Given the description of an element on the screen output the (x, y) to click on. 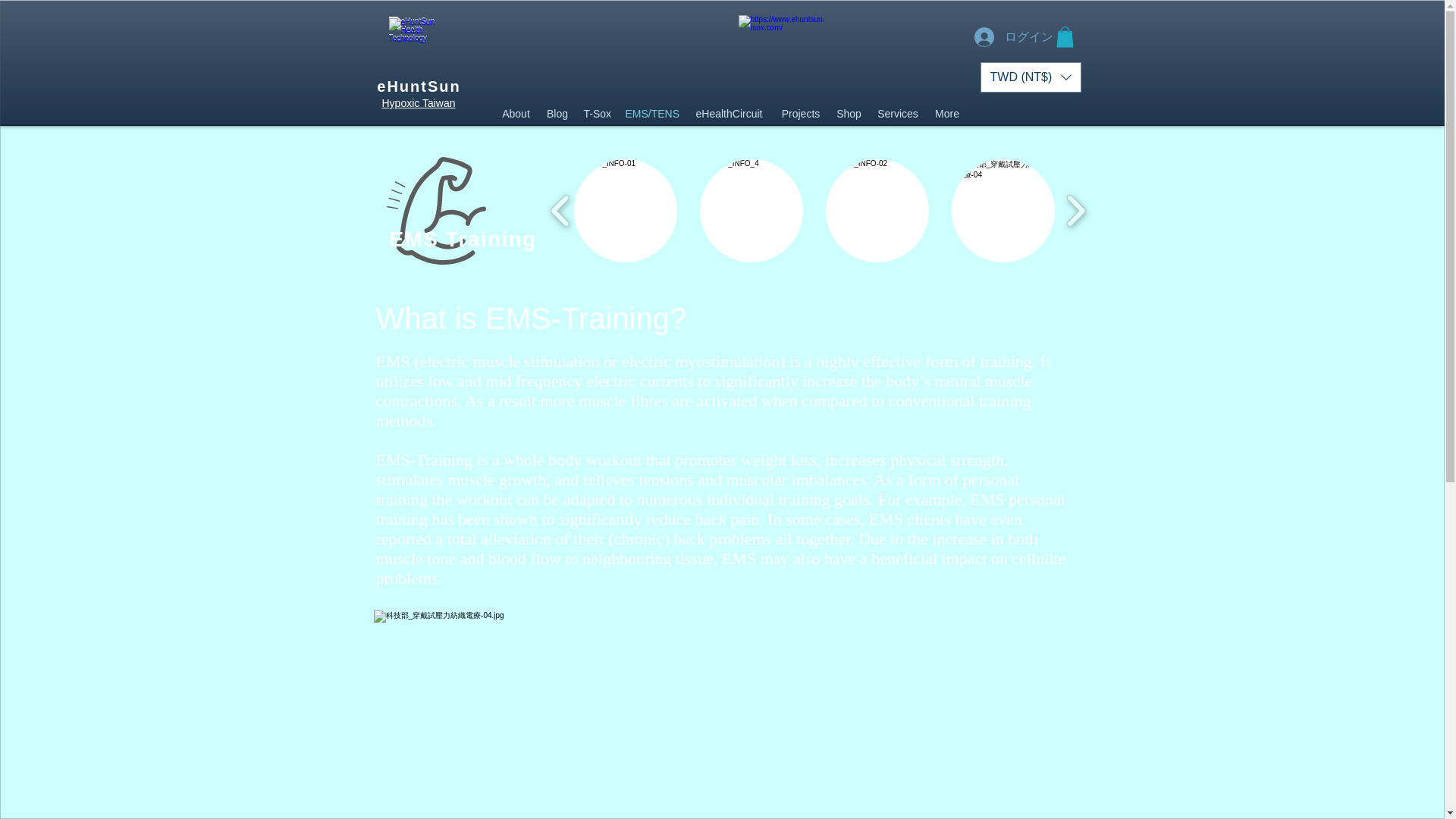
T-Sox (596, 114)
Projects (800, 114)
Blog (556, 114)
eHuntSun (418, 86)
About (515, 114)
Hypoxic Taiwan (417, 102)
Shop (848, 114)
Services (897, 114)
eHealthCircuit (729, 114)
